Given the description of an element on the screen output the (x, y) to click on. 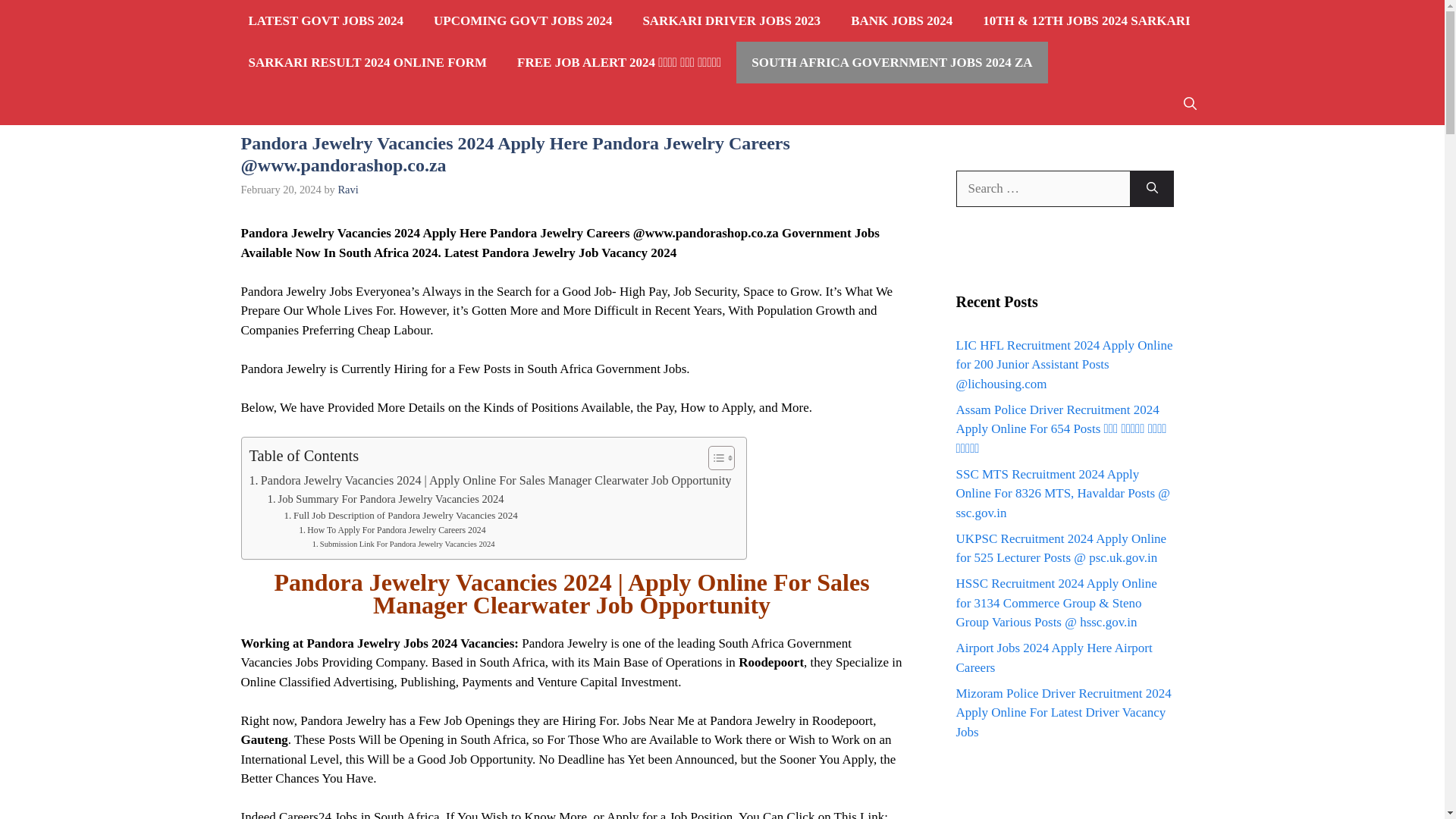
Full Job Description of Pandora Jewelry Vacancies 2024 (400, 515)
LATEST GOVT JOBS 2024 (325, 20)
BANK JOBS 2024 (901, 20)
Submission Link For Pandora Jewelry Vacancies 2024 (404, 544)
How To Apply For Pandora Jewelry Careers 2024 (391, 531)
SARKARI RESULT 2024 ONLINE FORM (367, 62)
SOUTH AFRICA GOVERNMENT JOBS 2024 ZA (891, 62)
Job Summary For Pandora Jewelry Vacancies 2024 (385, 498)
Ravi (347, 189)
How To Apply For Pandora Jewelry Careers 2024 (391, 531)
Full Job Description of Pandora Jewelry Vacancies 2024 (400, 515)
View all posts by Ravi (347, 189)
SARKARI DRIVER JOBS 2023 (731, 20)
Job Summary For Pandora Jewelry Vacancies 2024 (385, 498)
Submission Link For Pandora Jewelry Vacancies 2024 (404, 544)
